Given the description of an element on the screen output the (x, y) to click on. 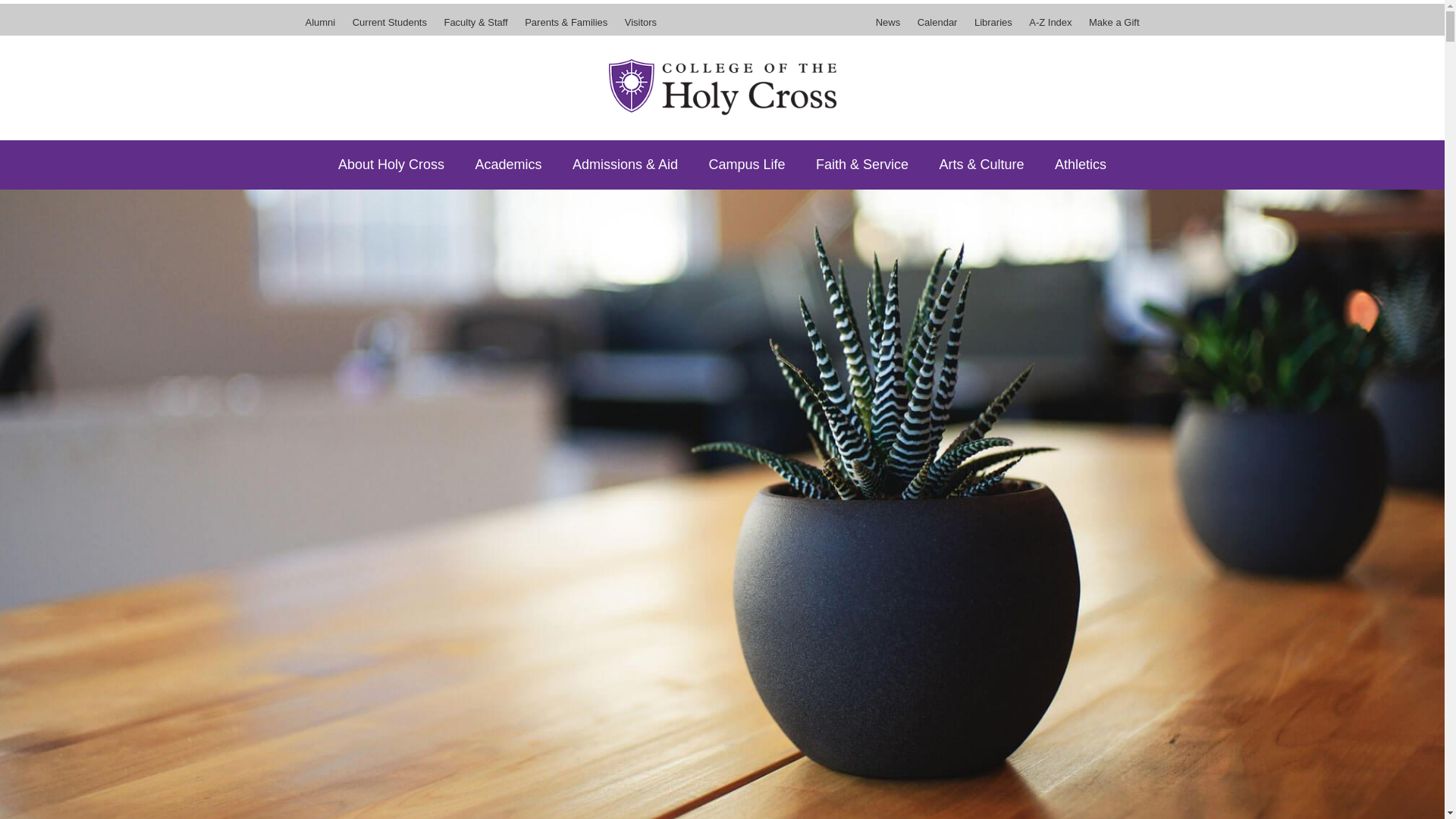
About Holy Cross (391, 164)
Libraries (993, 27)
Visitors (636, 27)
Make a Gift (1109, 27)
College of the Holy Cross Home (721, 86)
News (891, 27)
Calendar (937, 27)
Academics (507, 164)
Current Students (389, 27)
A-Z Index (1050, 27)
